Given the description of an element on the screen output the (x, y) to click on. 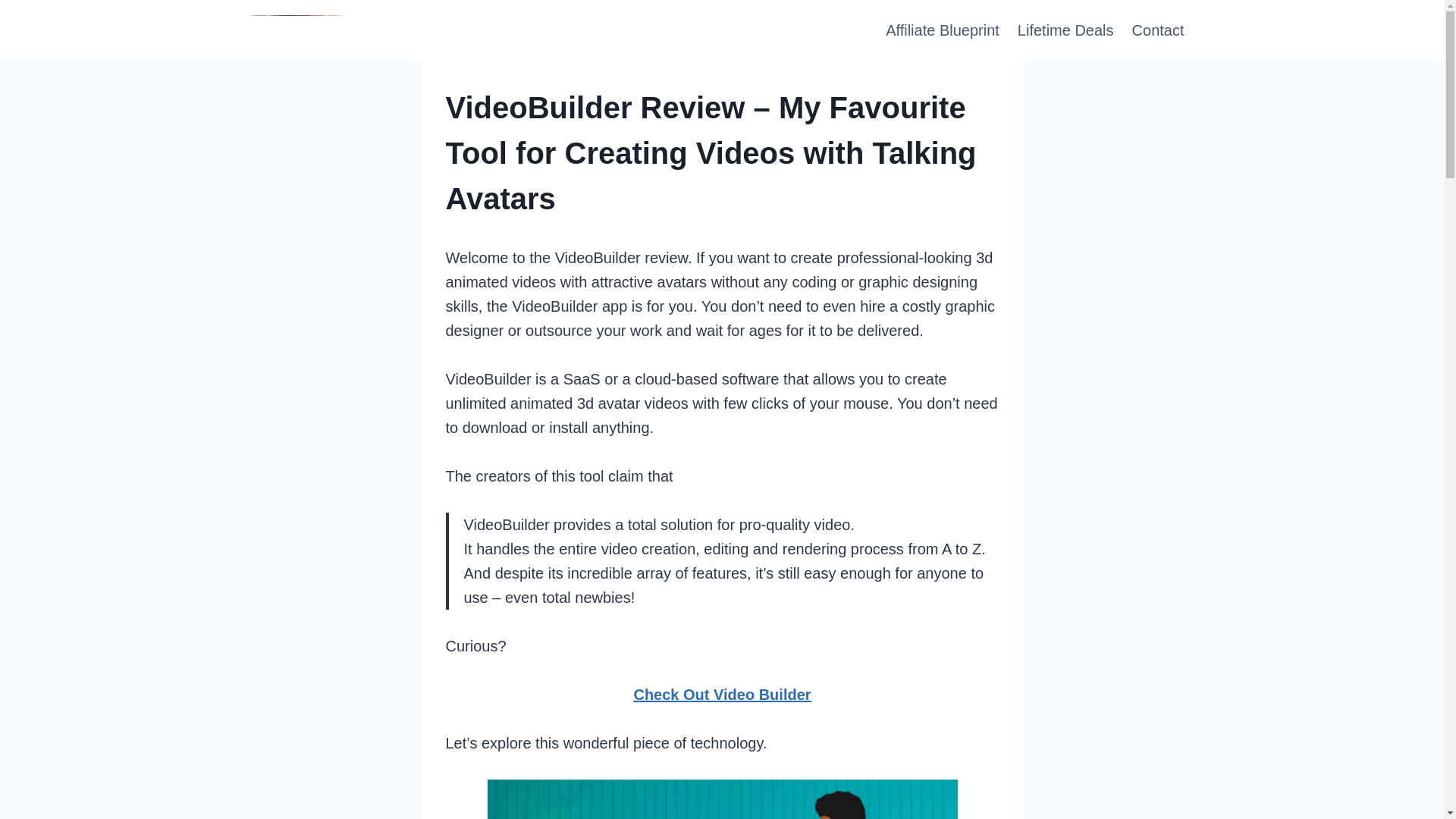
Contact (1157, 30)
Affiliate Blueprint (942, 30)
Lifetime Deals (1065, 30)
Check Out Video Builder (721, 694)
